Given the description of an element on the screen output the (x, y) to click on. 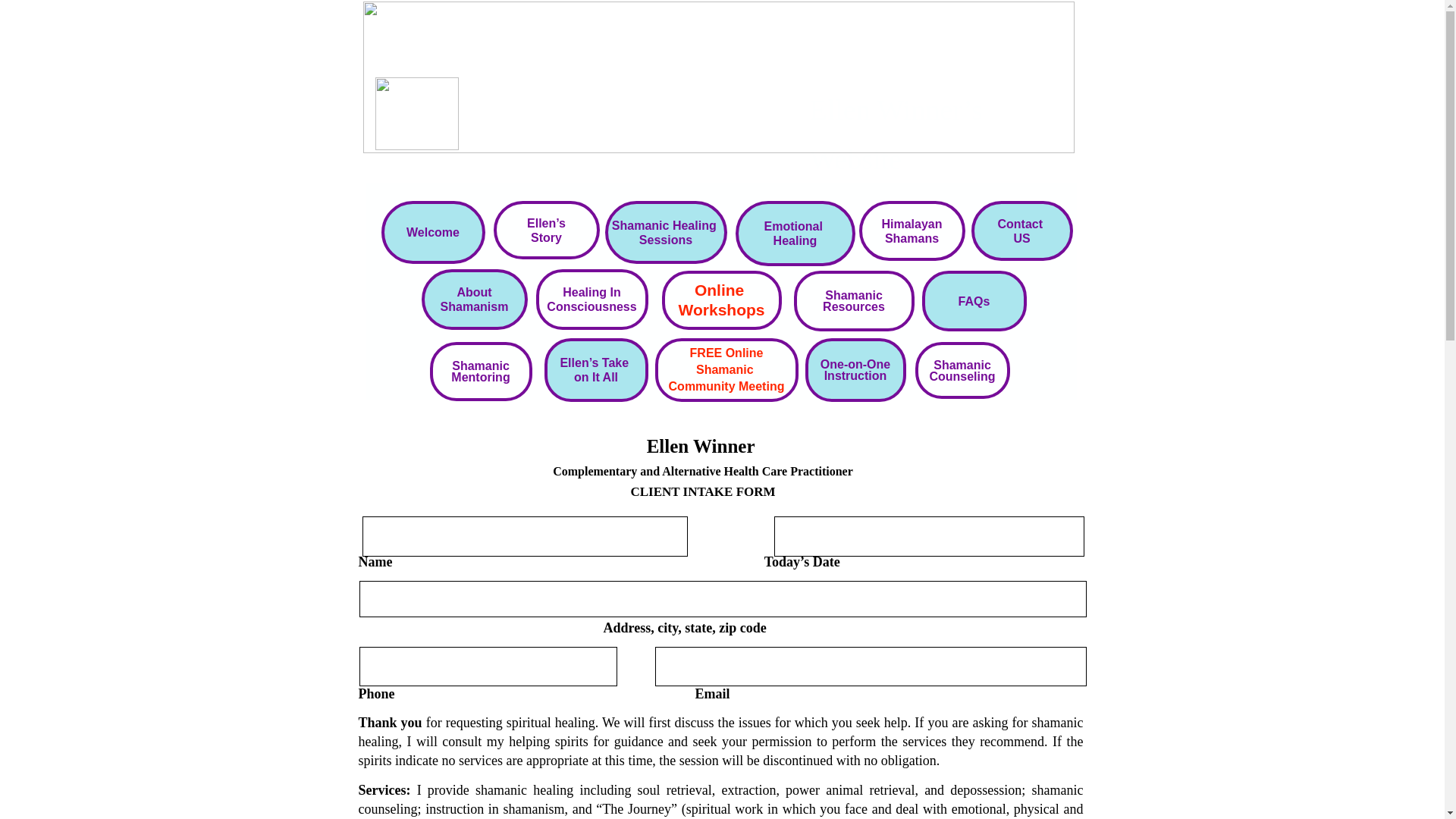
Shamanic Counseling (961, 384)
FAQs (973, 322)
Shamanic Mentoring (480, 386)
One-on-One Instruction (726, 373)
About Shamanism (1021, 242)
Healing In Consciousness (855, 387)
